Given the description of an element on the screen output the (x, y) to click on. 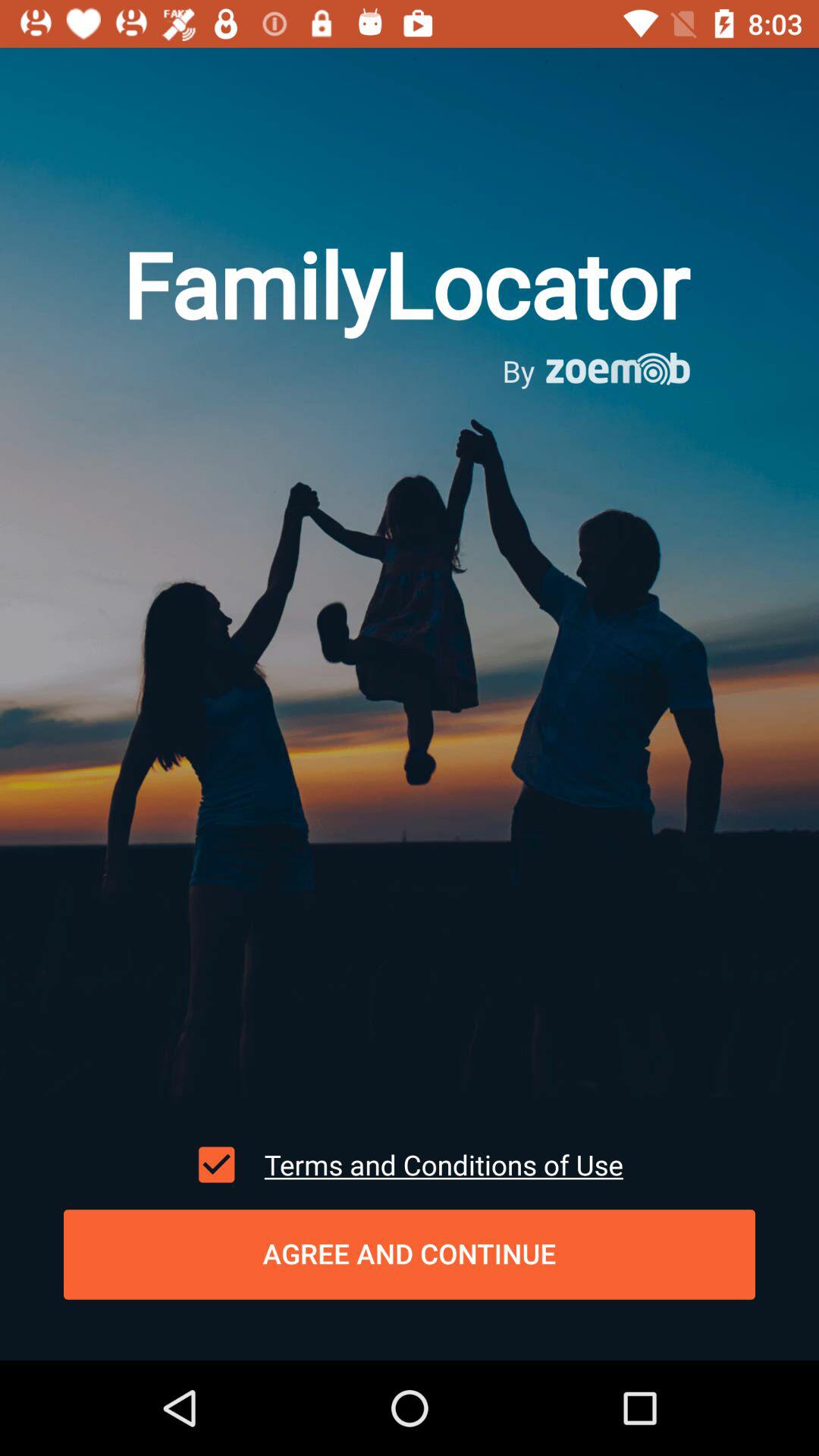
swipe to agree and continue item (409, 1254)
